Given the description of an element on the screen output the (x, y) to click on. 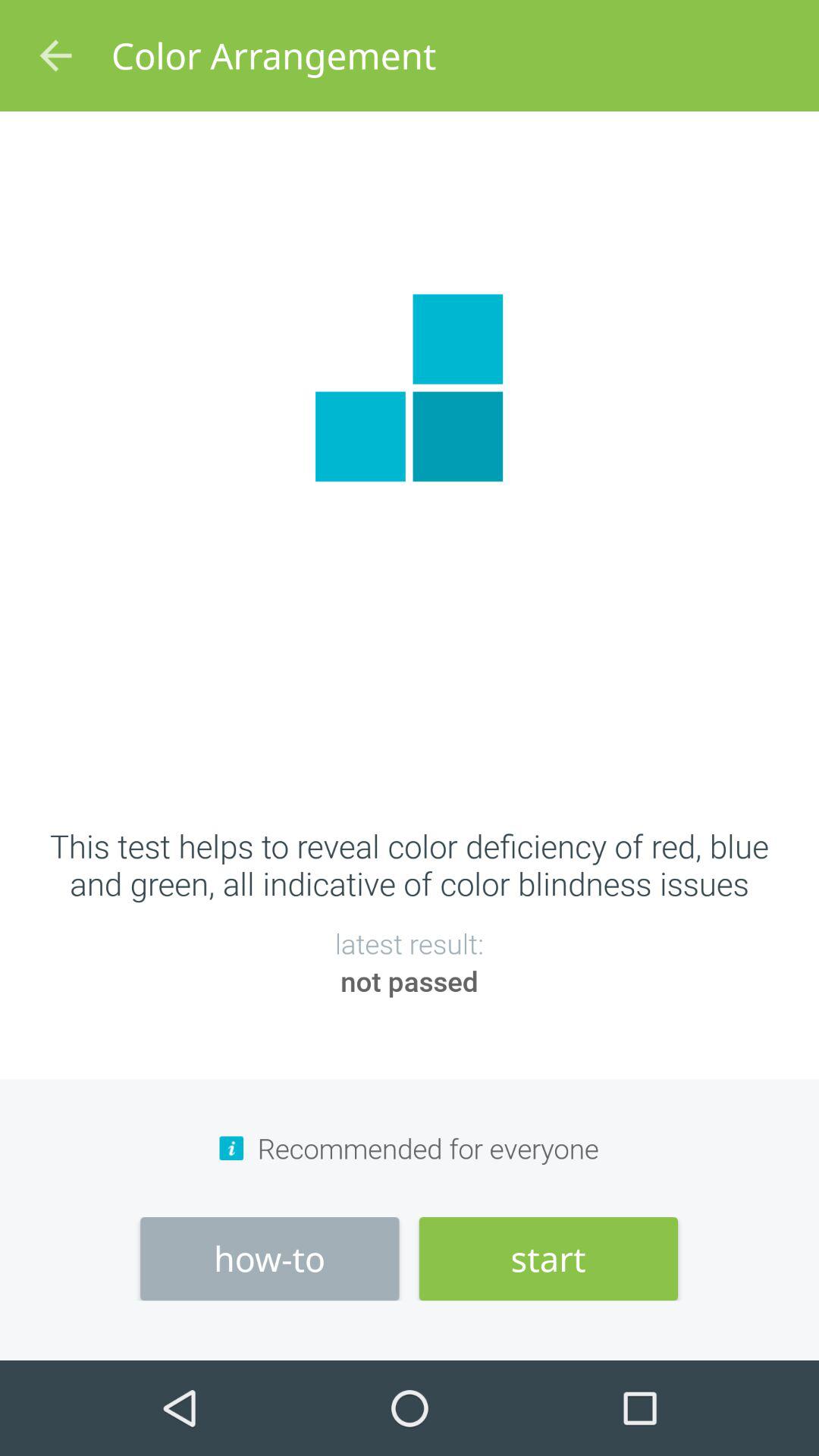
scroll to how-to icon (269, 1258)
